Given the description of an element on the screen output the (x, y) to click on. 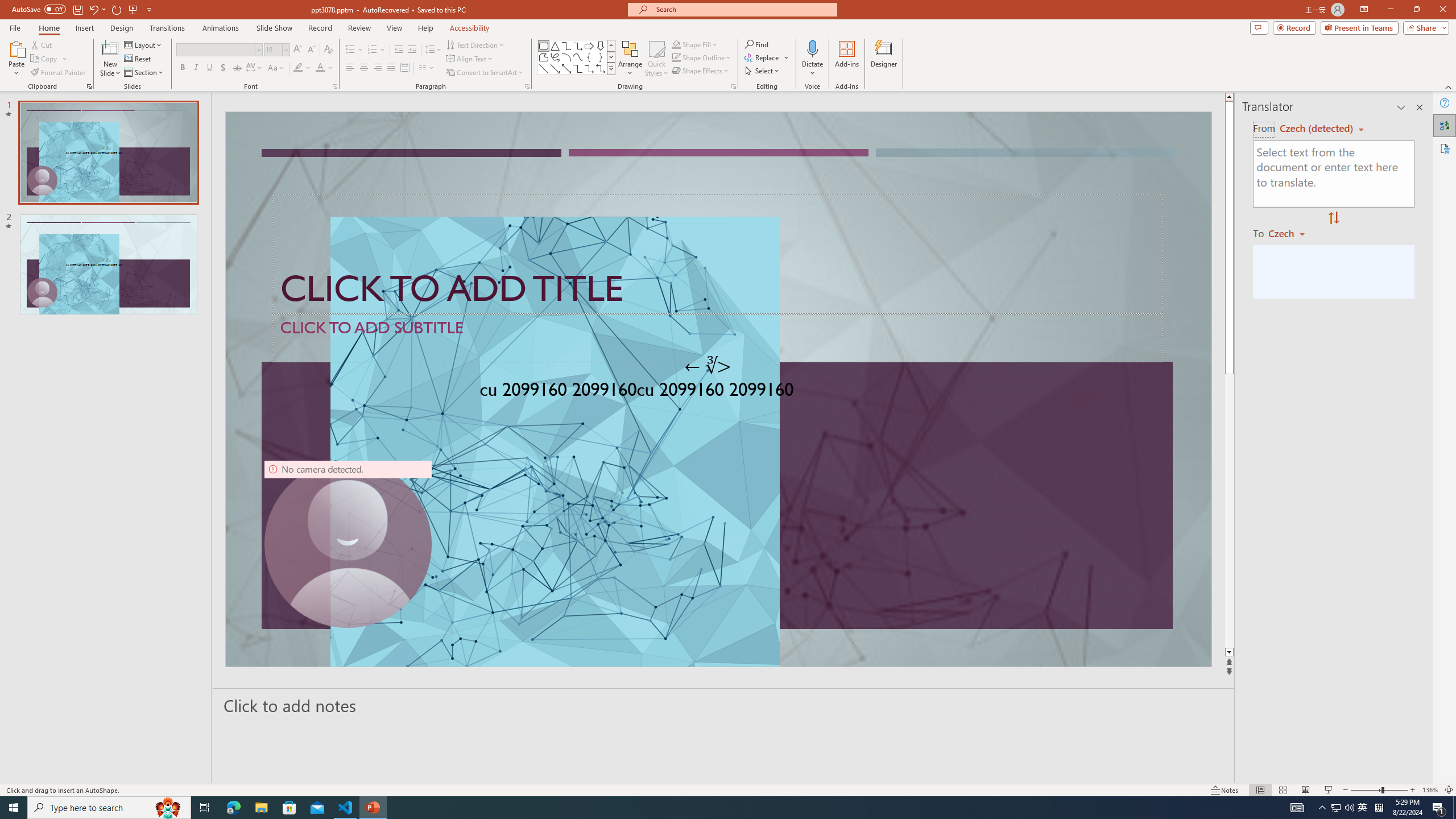
Line Arrow: Double (566, 68)
